Given the description of an element on the screen output the (x, y) to click on. 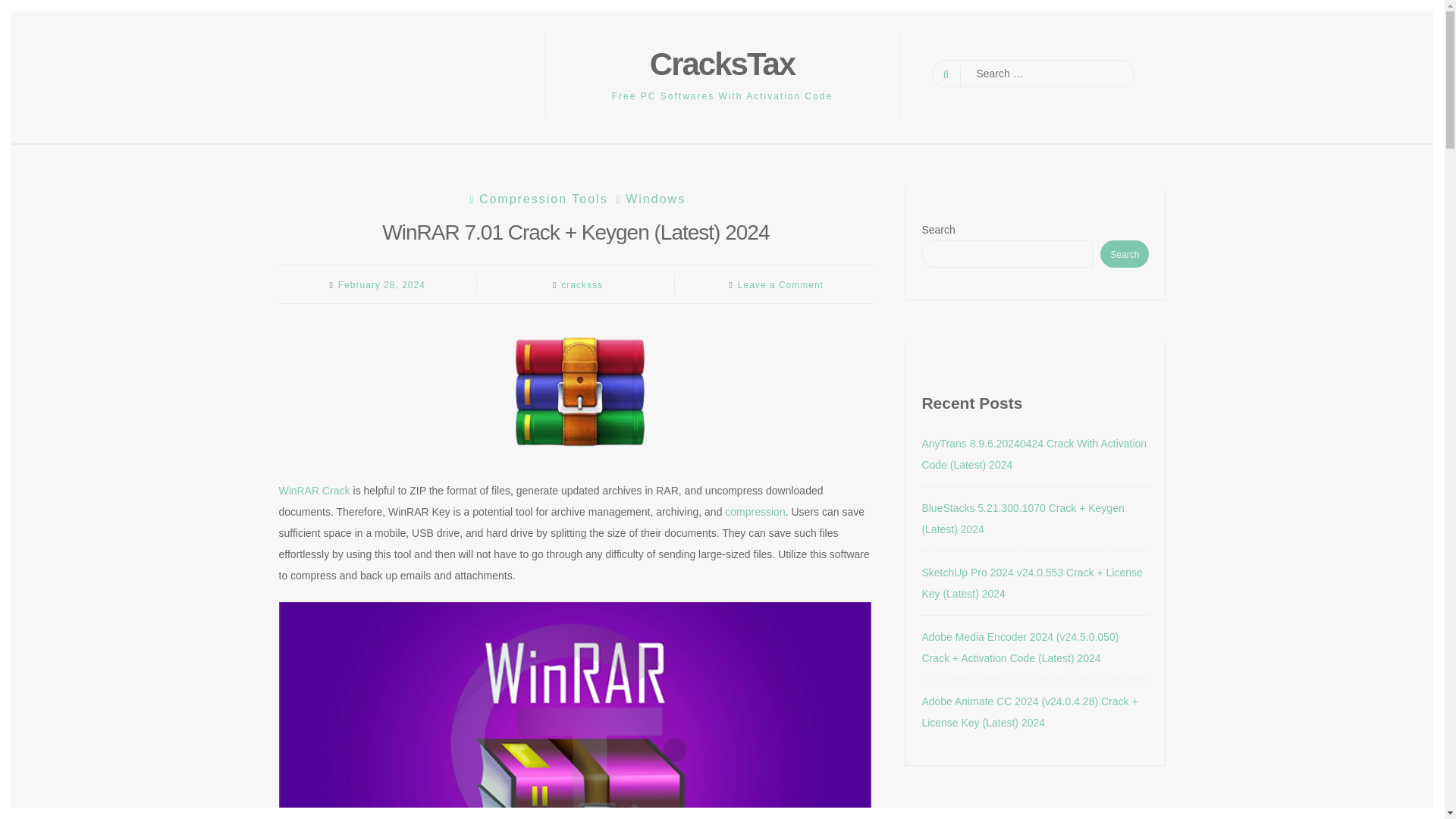
cracksss (581, 285)
Windows (648, 198)
Search (24, 9)
Compression Tools (536, 198)
WinRAR Crack (314, 490)
compression (754, 511)
CracksTax (721, 63)
